Given the description of an element on the screen output the (x, y) to click on. 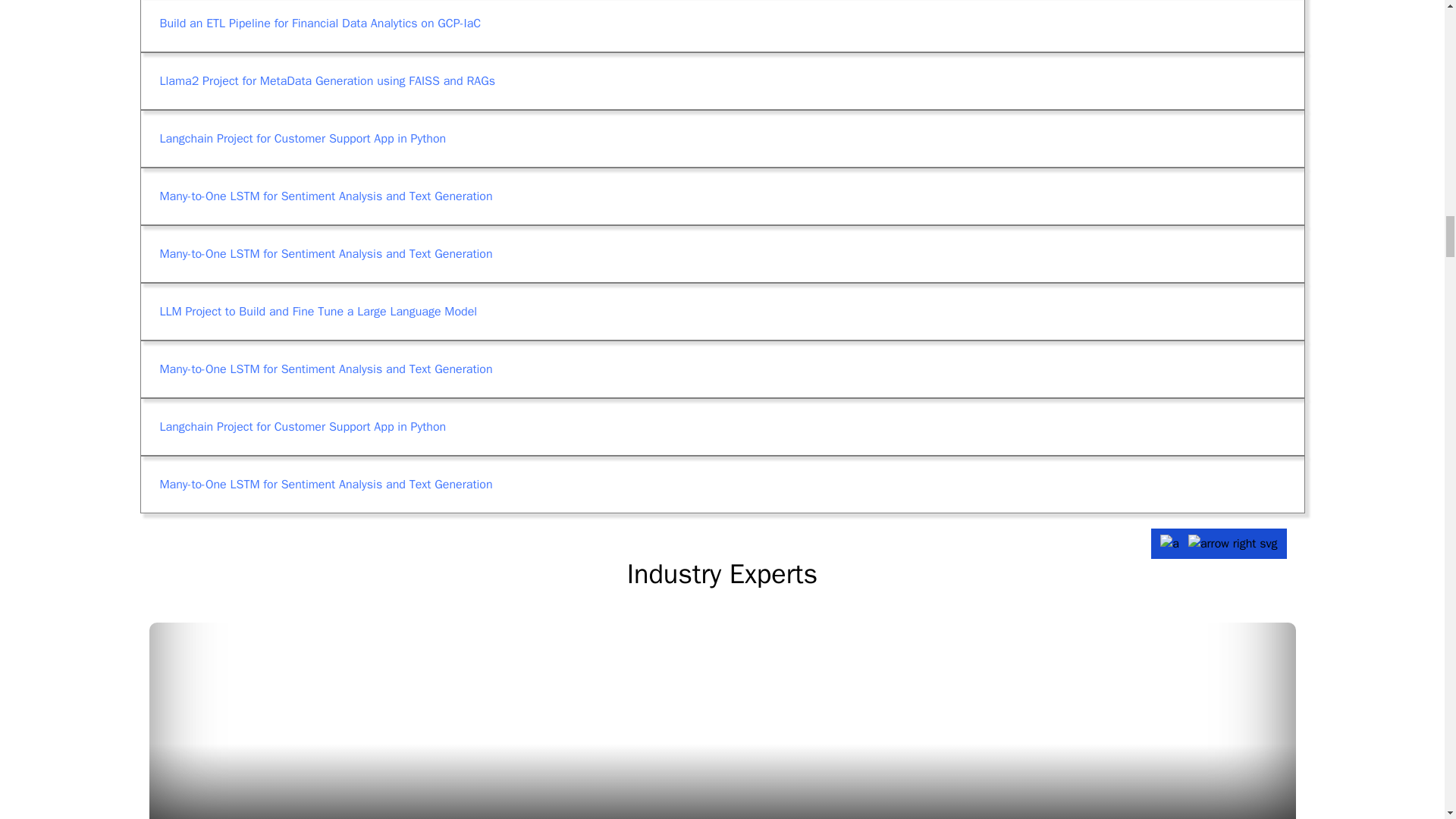
Langchain Project for Customer Support App in Python (721, 311)
Many-to-One LSTM for Sentiment Analysis and Text Generation (721, 426)
Langchain Project for Customer Support App in Python (721, 196)
Many-to-One LSTM for Sentiment Analysis and Text Generation (721, 138)
Many-to-One LSTM for Sentiment Analysis and Text Generation (721, 369)
Many-to-One LSTM for Sentiment Analysis and Text Generation (721, 253)
LLM Project to Build and Fine Tune a Large Language Model (721, 484)
Many-to-One LSTM for Sentiment Analysis and Text Generation (721, 311)
Langchain Project for Customer Support App in Python (721, 253)
Langchain Project for Customer Support App in Python (721, 426)
Llama2 Project for MetaData Generation using FAISS and RAGs (721, 138)
